Given the description of an element on the screen output the (x, y) to click on. 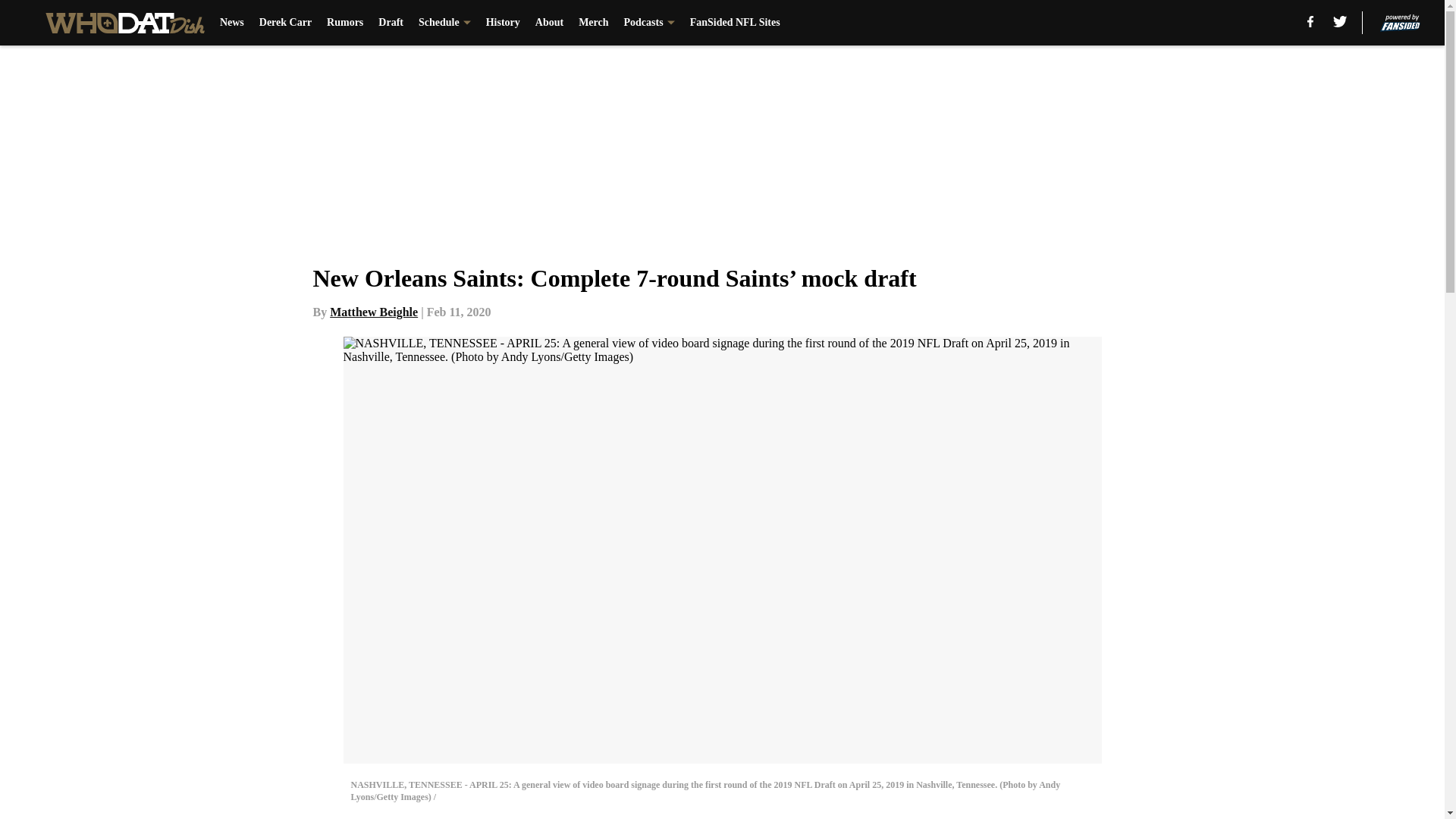
Merch (593, 22)
News (231, 22)
Derek Carr (285, 22)
Rumors (344, 22)
History (502, 22)
About (549, 22)
Draft (390, 22)
FanSided NFL Sites (735, 22)
Matthew Beighle (373, 311)
